Given the description of an element on the screen output the (x, y) to click on. 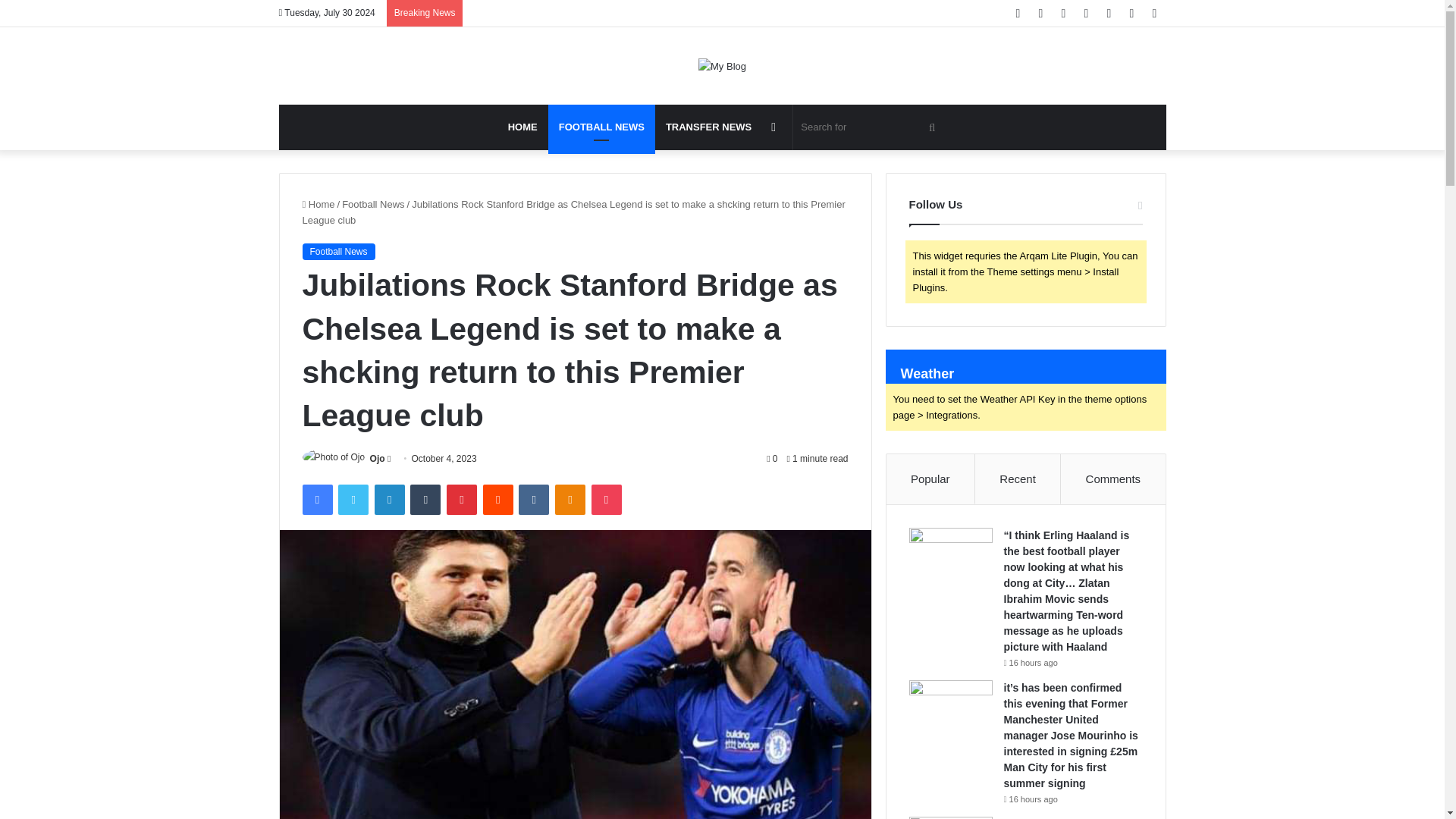
LinkedIn (389, 499)
VKontakte (533, 499)
Facebook (316, 499)
Tumblr (425, 499)
Search for (870, 126)
HOME (522, 126)
Reddit (498, 499)
Ojo (377, 458)
Ojo (377, 458)
Twitter (352, 499)
Football News (337, 251)
Pocket (606, 499)
Facebook (316, 499)
VKontakte (533, 499)
Home (317, 204)
